Given the description of an element on the screen output the (x, y) to click on. 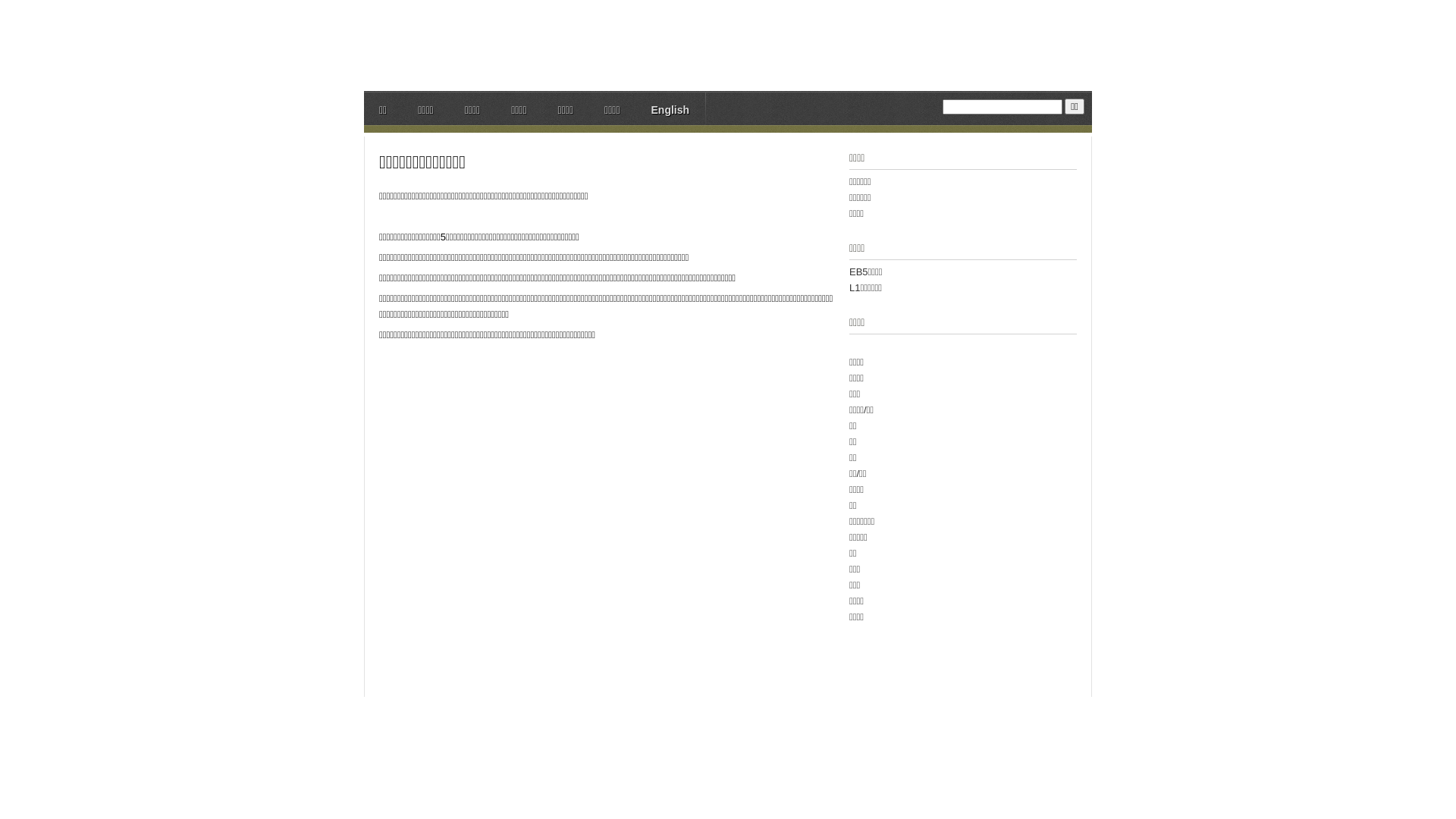
English Element type: text (669, 111)
